Given the description of an element on the screen output the (x, y) to click on. 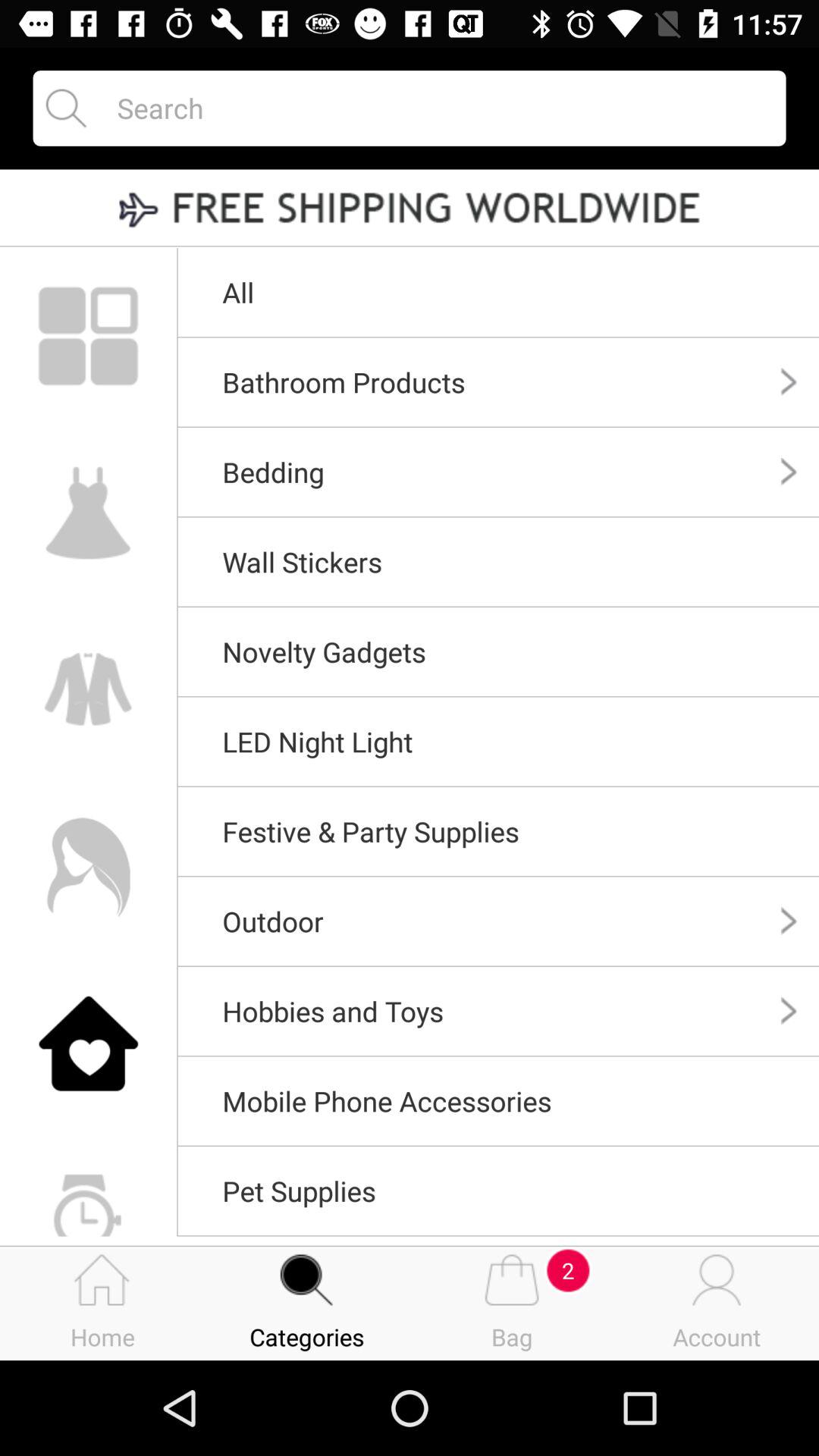
click to search (437, 108)
